Given the description of an element on the screen output the (x, y) to click on. 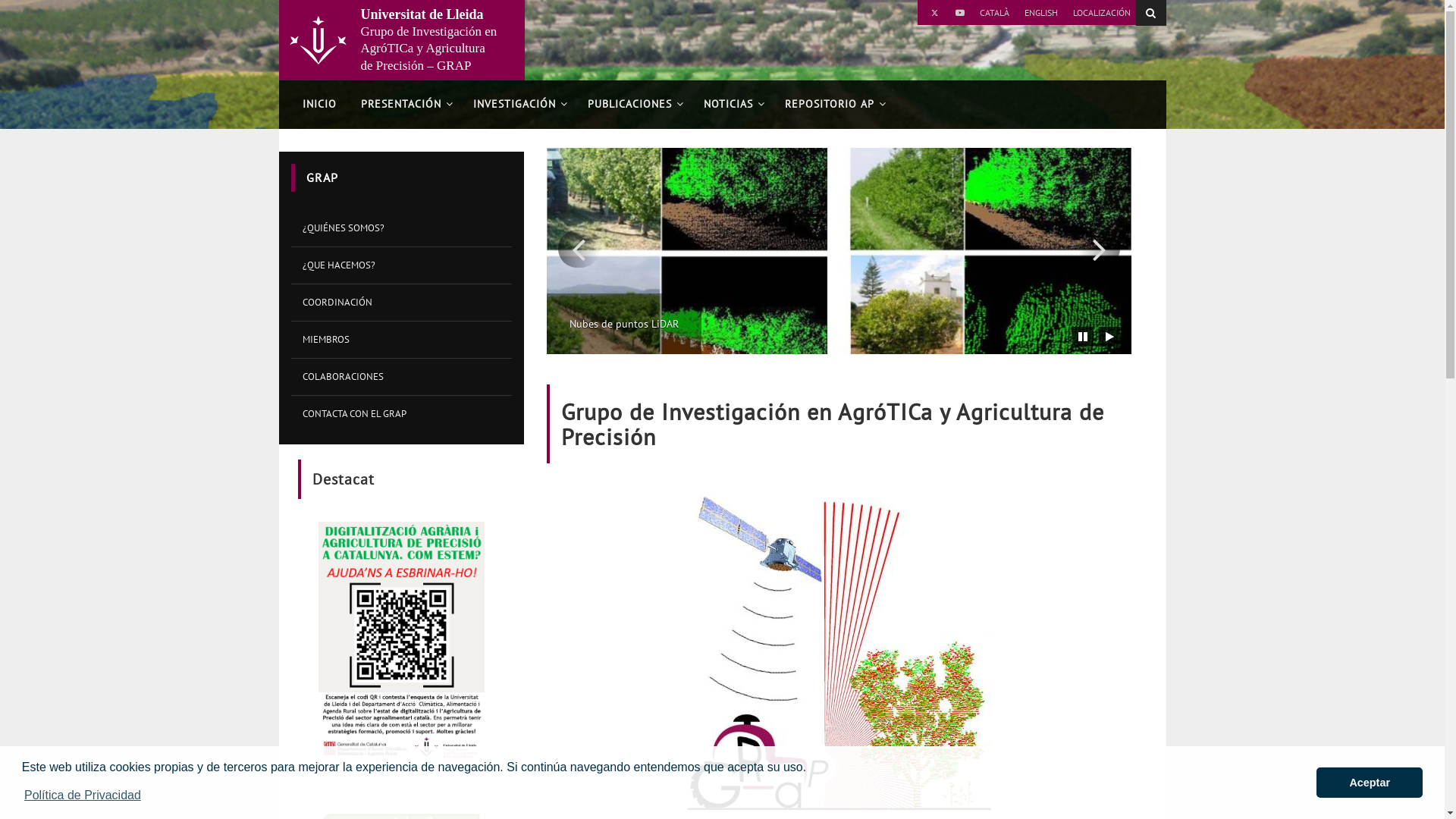
Reiniciar carrusel Element type: text (1109, 336)
Detener carrusel Element type: text (1082, 336)
ENGLISH Element type: text (1040, 12)
NOTICIAS
   Element type: text (731, 104)
PUBLICACIONES
   Element type: text (632, 104)
YOUTUBE Element type: text (959, 12)
Search Element type: hover (1150, 12)
INICIO Element type: text (318, 104)
Aceptar Element type: text (1369, 782)
TWITTER Element type: text (935, 12)
CONTACTA CON EL GRAP Element type: text (401, 413)
COLABORACIONES Element type: text (401, 376)
REPOSITORIO AP
   Element type: text (832, 104)
MIEMBROS Element type: text (401, 338)
